Given the description of an element on the screen output the (x, y) to click on. 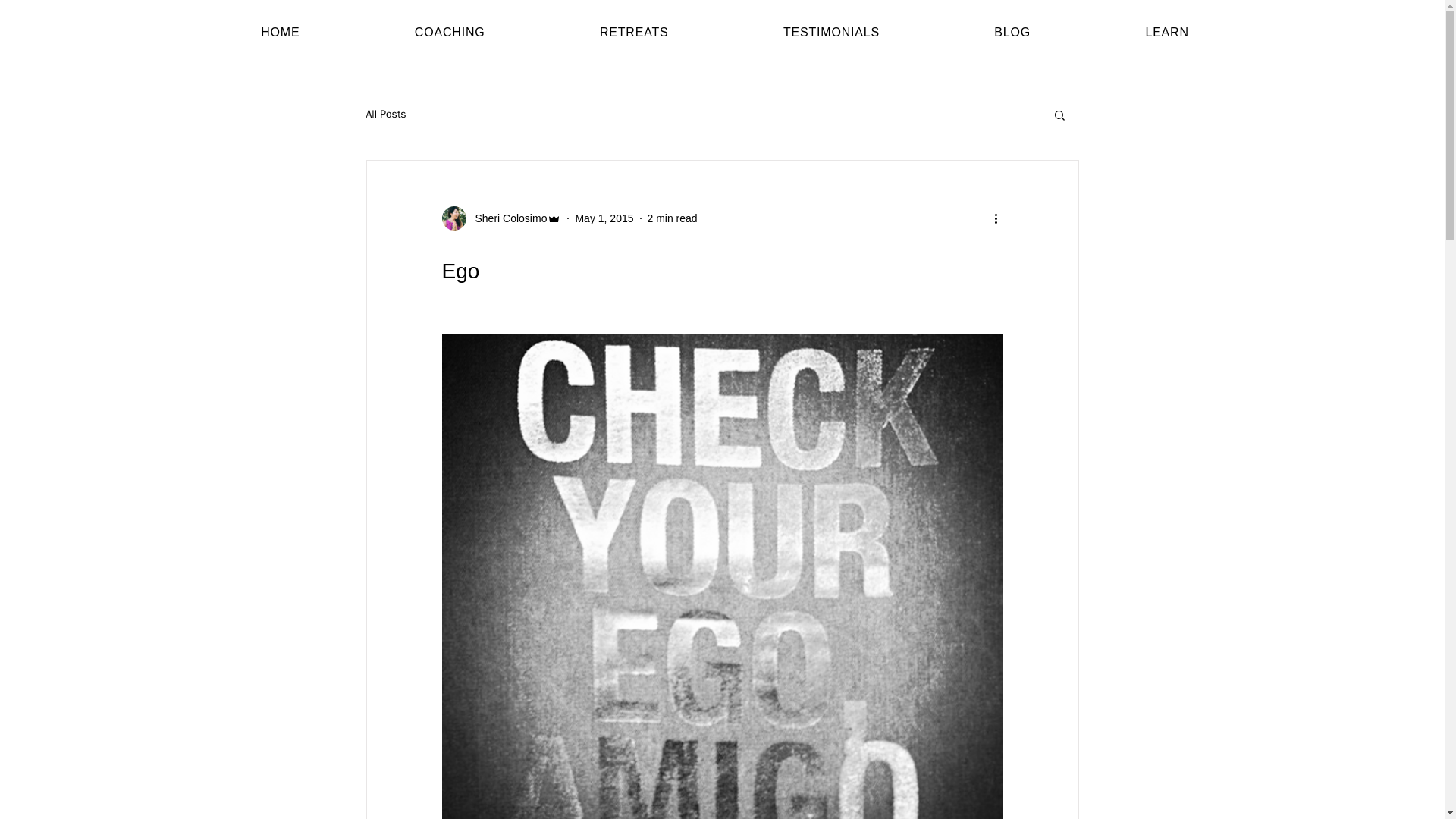
LEARN (1166, 32)
Sheri Colosimo (500, 218)
All Posts (385, 114)
2 min read (672, 218)
May 1, 2015 (604, 218)
RETREATS (633, 32)
HOME (279, 32)
TESTIMONIALS (831, 32)
Sheri Colosimo (506, 218)
COACHING (448, 32)
BLOG (1012, 32)
